Given the description of an element on the screen output the (x, y) to click on. 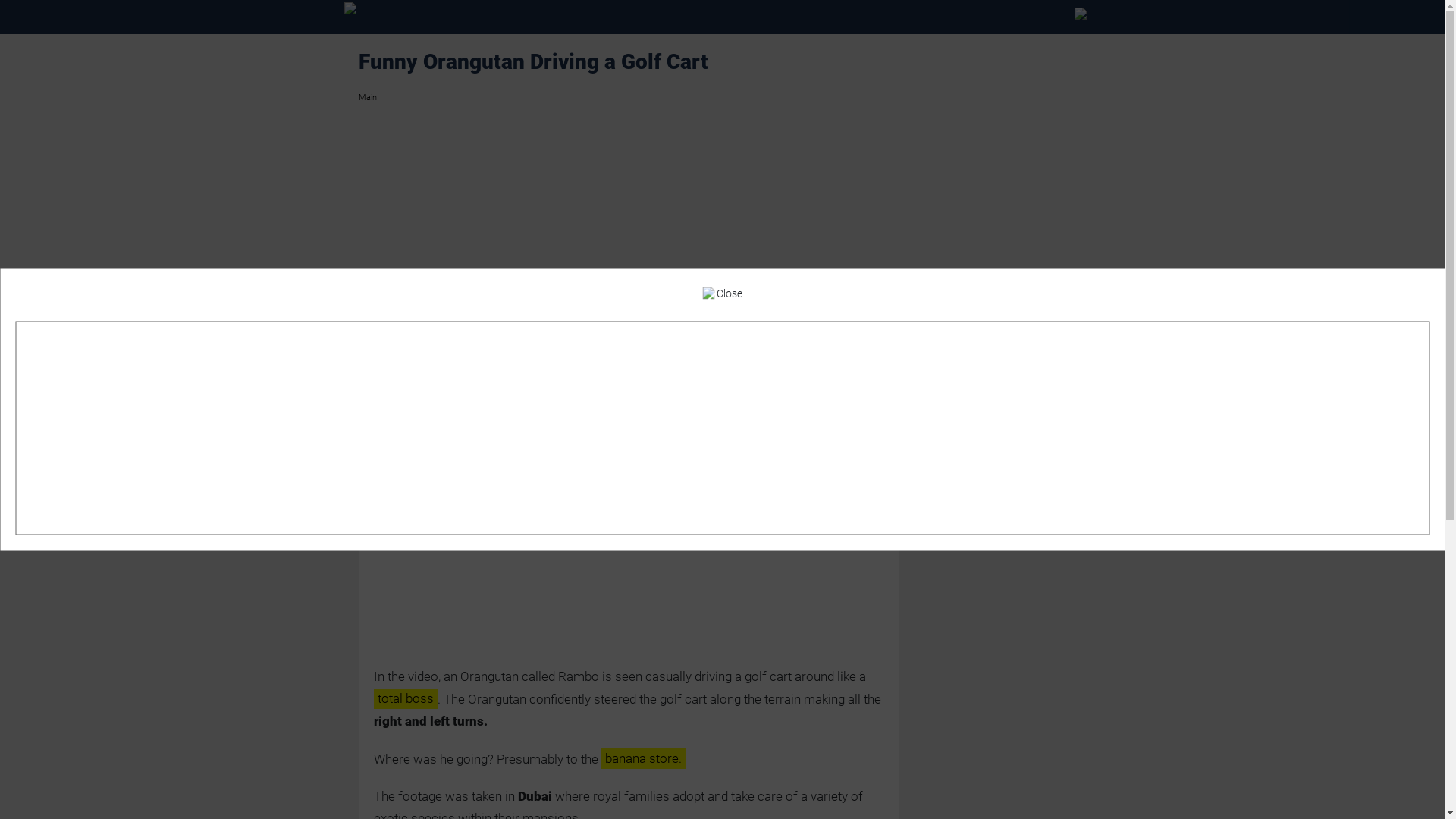
Advertisement Element type: hover (1003, 295)
Main Element type: text (366, 97)
YouTube video player Element type: hover (628, 507)
Advertisement Element type: hover (627, 226)
Advertisement Element type: hover (721, 427)
